Given the description of an element on the screen output the (x, y) to click on. 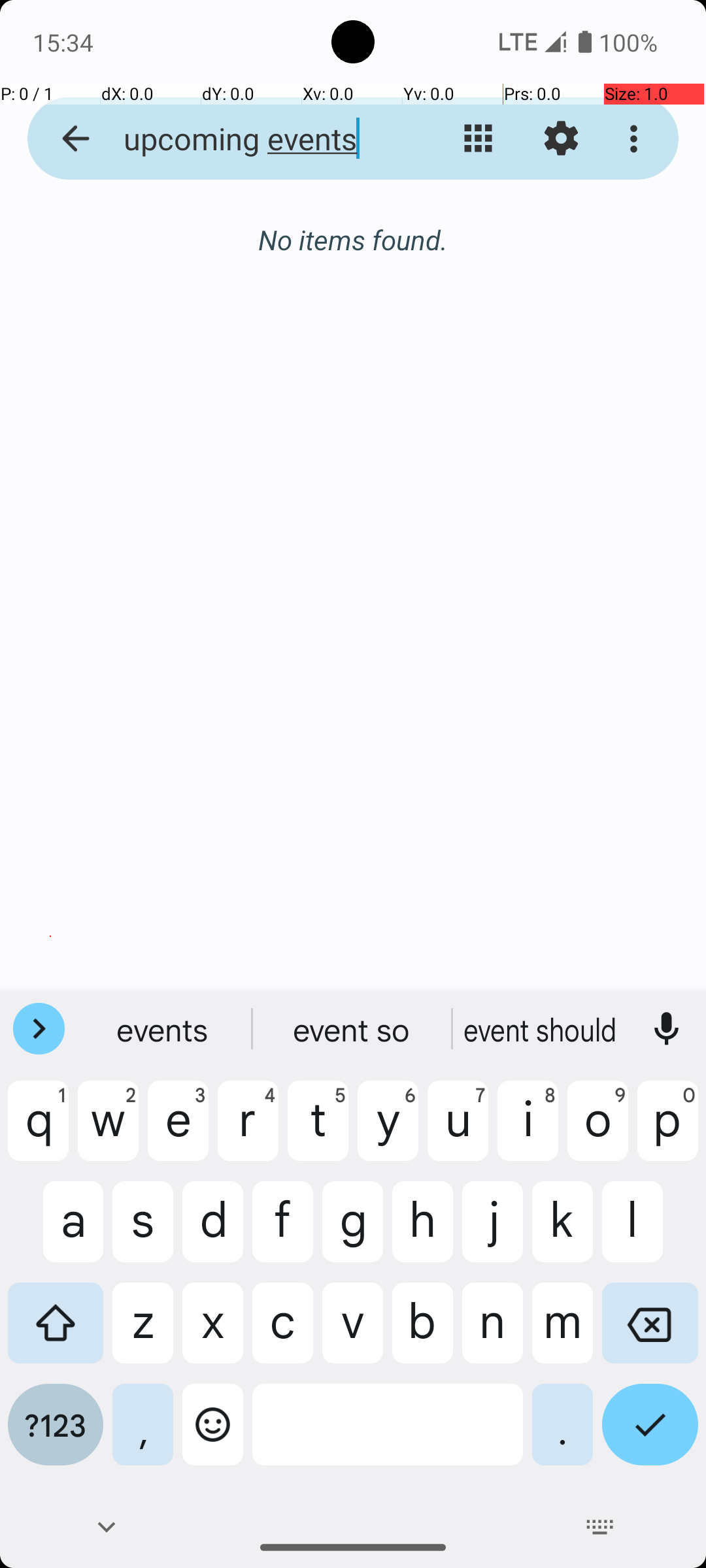
upcoming events Element type: android.widget.EditText (252, 138)
events Element type: android.widget.FrameLayout (163, 1028)
eventually Element type: android.widget.FrameLayout (541, 1028)
